Given the description of an element on the screen output the (x, y) to click on. 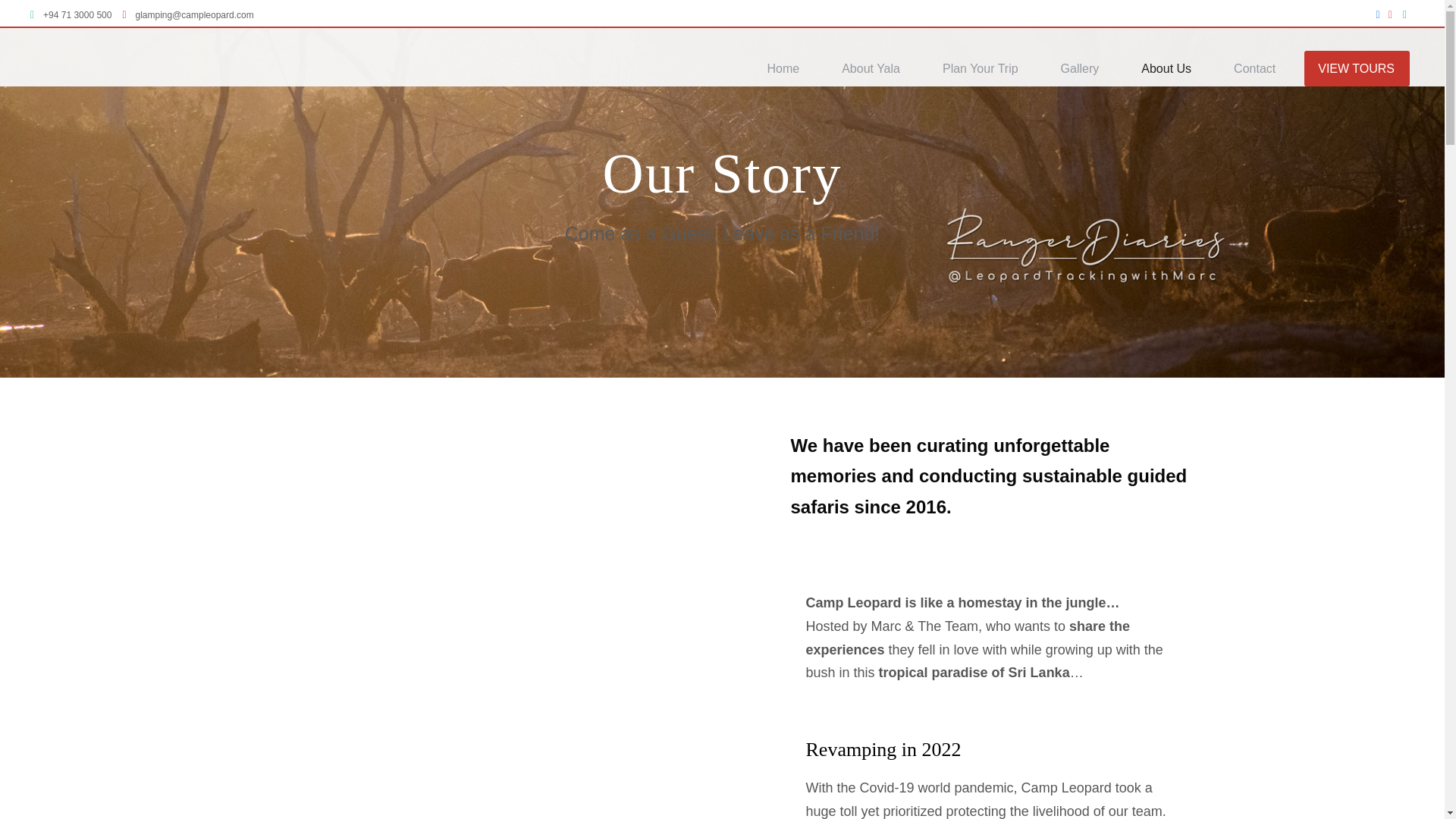
Gallery (1088, 68)
Home (790, 68)
Plan Your Trip (987, 68)
About Us (1174, 68)
Contact (1261, 68)
VIEW TOURS (1363, 68)
About Yala (878, 68)
